Given the description of an element on the screen output the (x, y) to click on. 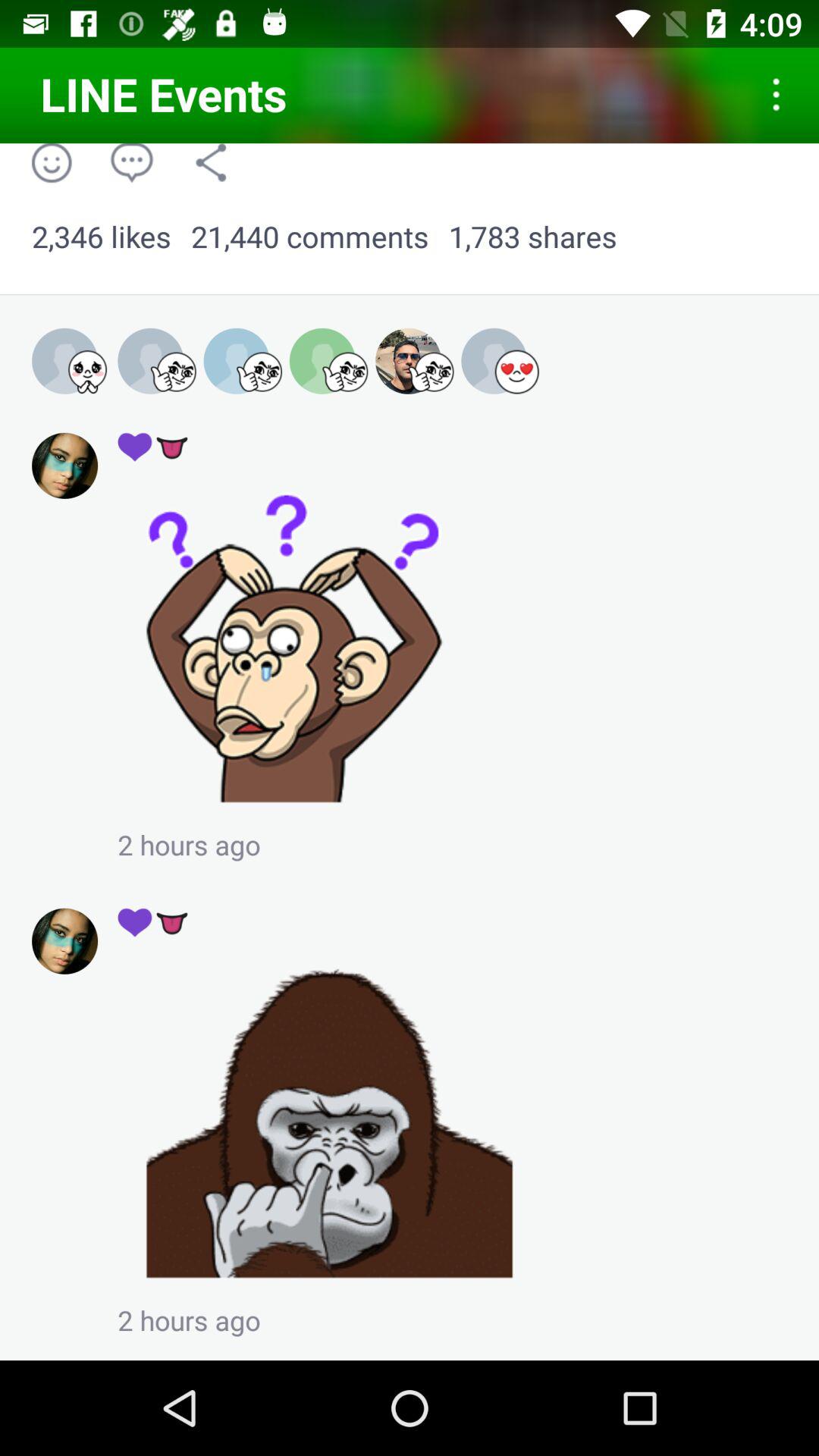
open icon next to 1,783 shares icon (309, 237)
